Given the description of an element on the screen output the (x, y) to click on. 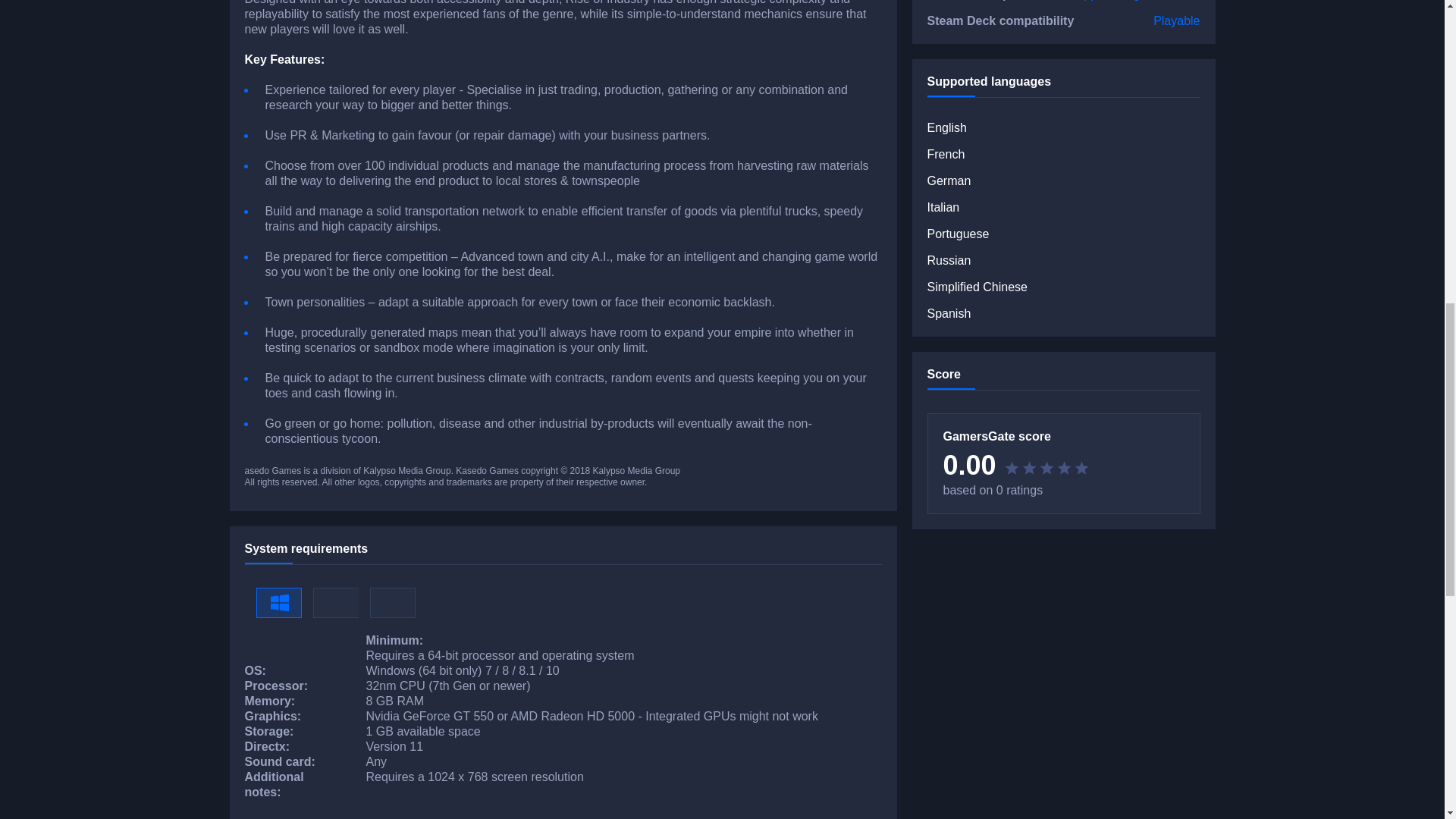
Playable (1176, 20)
